Given the description of an element on the screen output the (x, y) to click on. 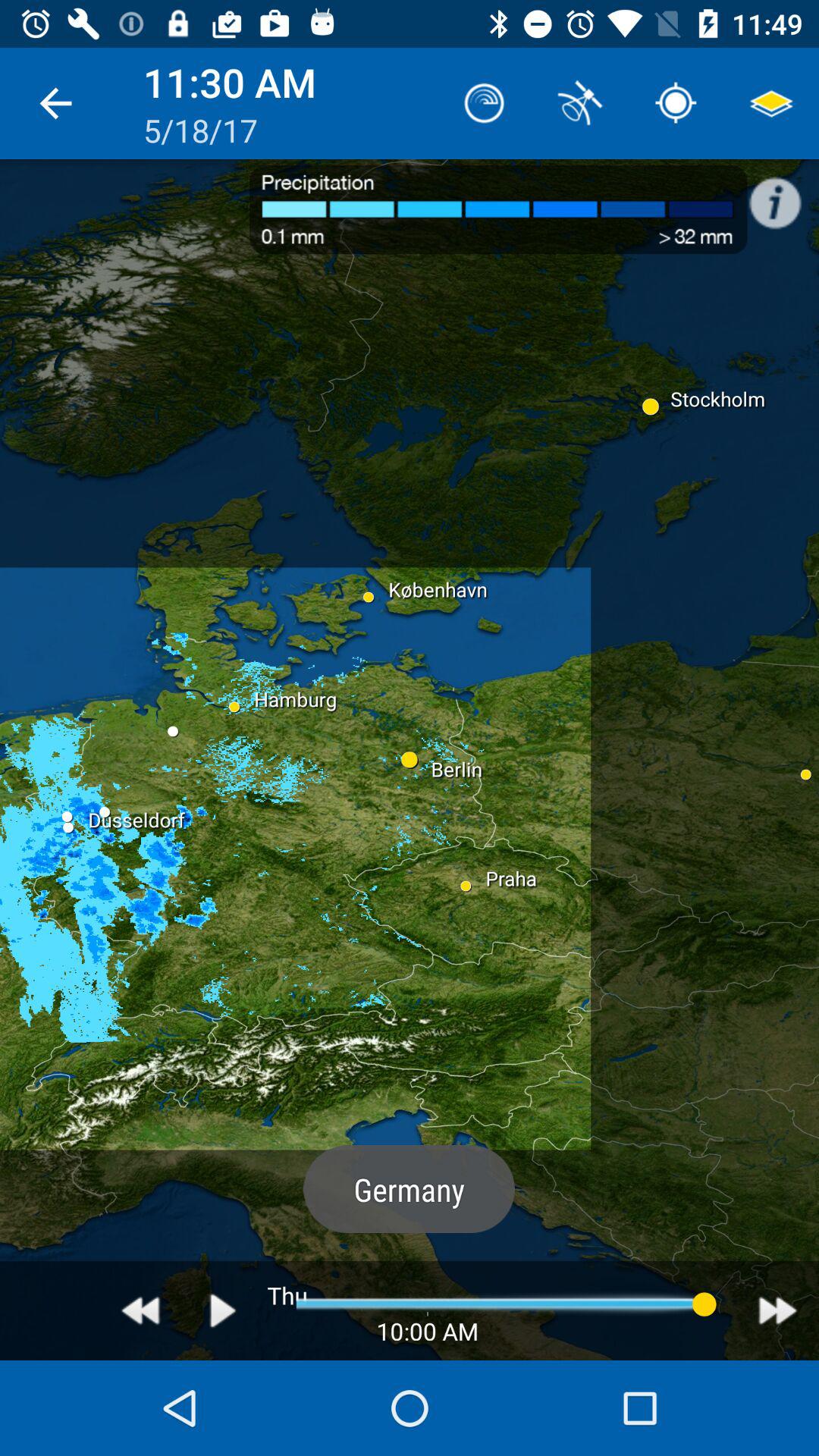
press the item next to 11:30 am item (484, 103)
